Given the description of an element on the screen output the (x, y) to click on. 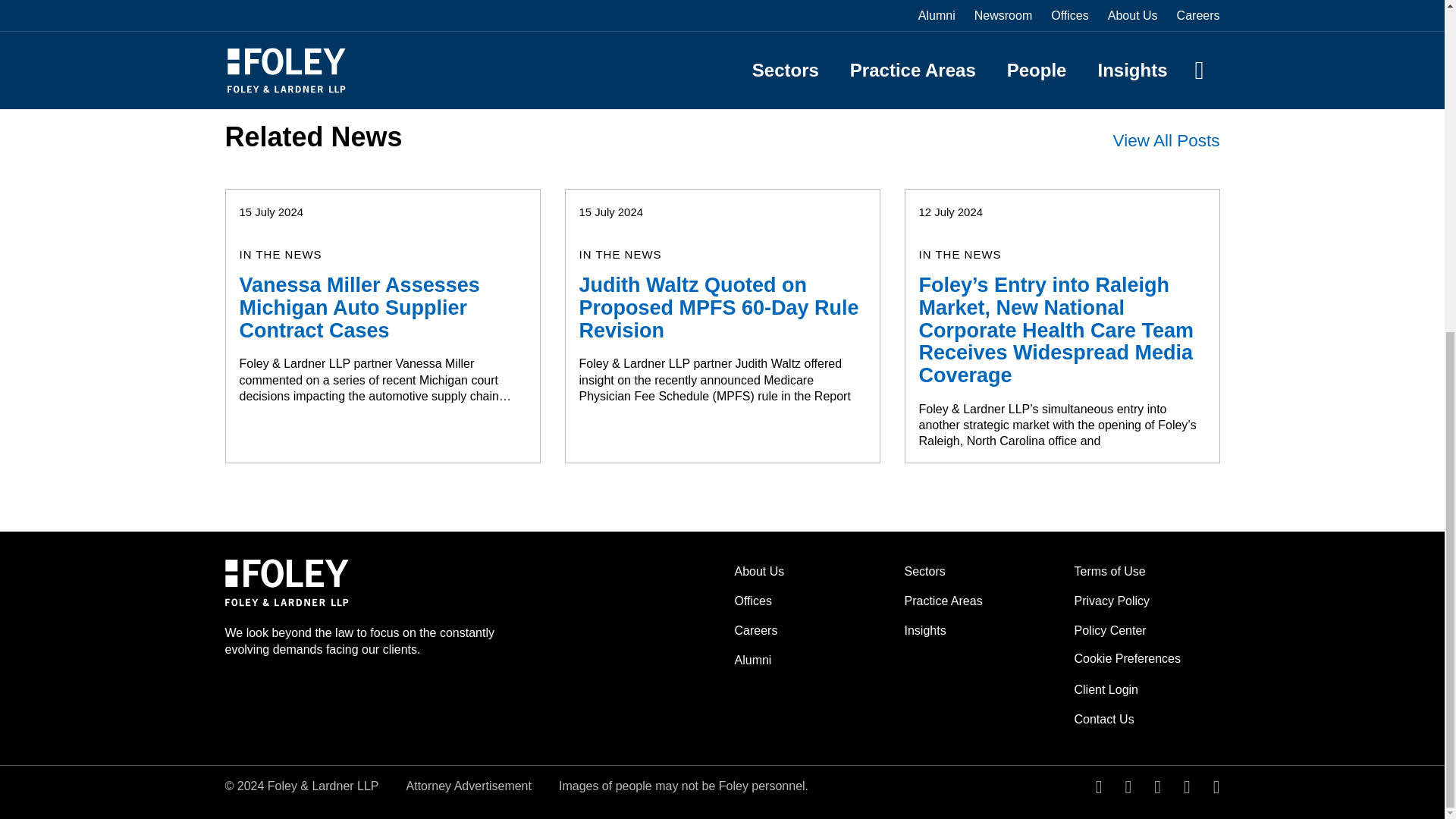
View All Posts (1166, 140)
About Us (758, 571)
here (574, 15)
Back to top (227, 43)
